Given the description of an element on the screen output the (x, y) to click on. 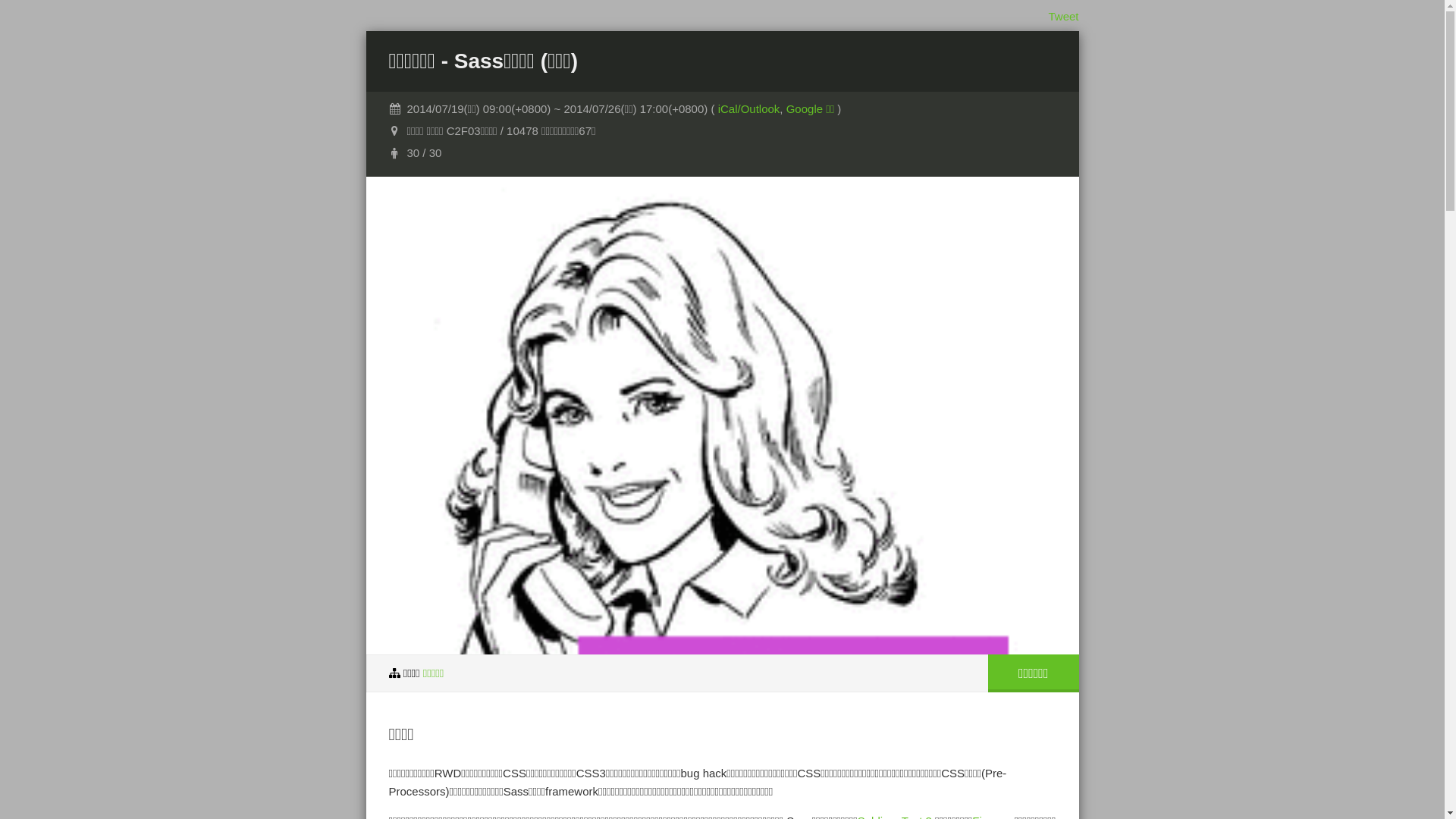
iCal/Outlook Element type: text (749, 108)
Tweet Element type: text (1063, 15)
